Given the description of an element on the screen output the (x, y) to click on. 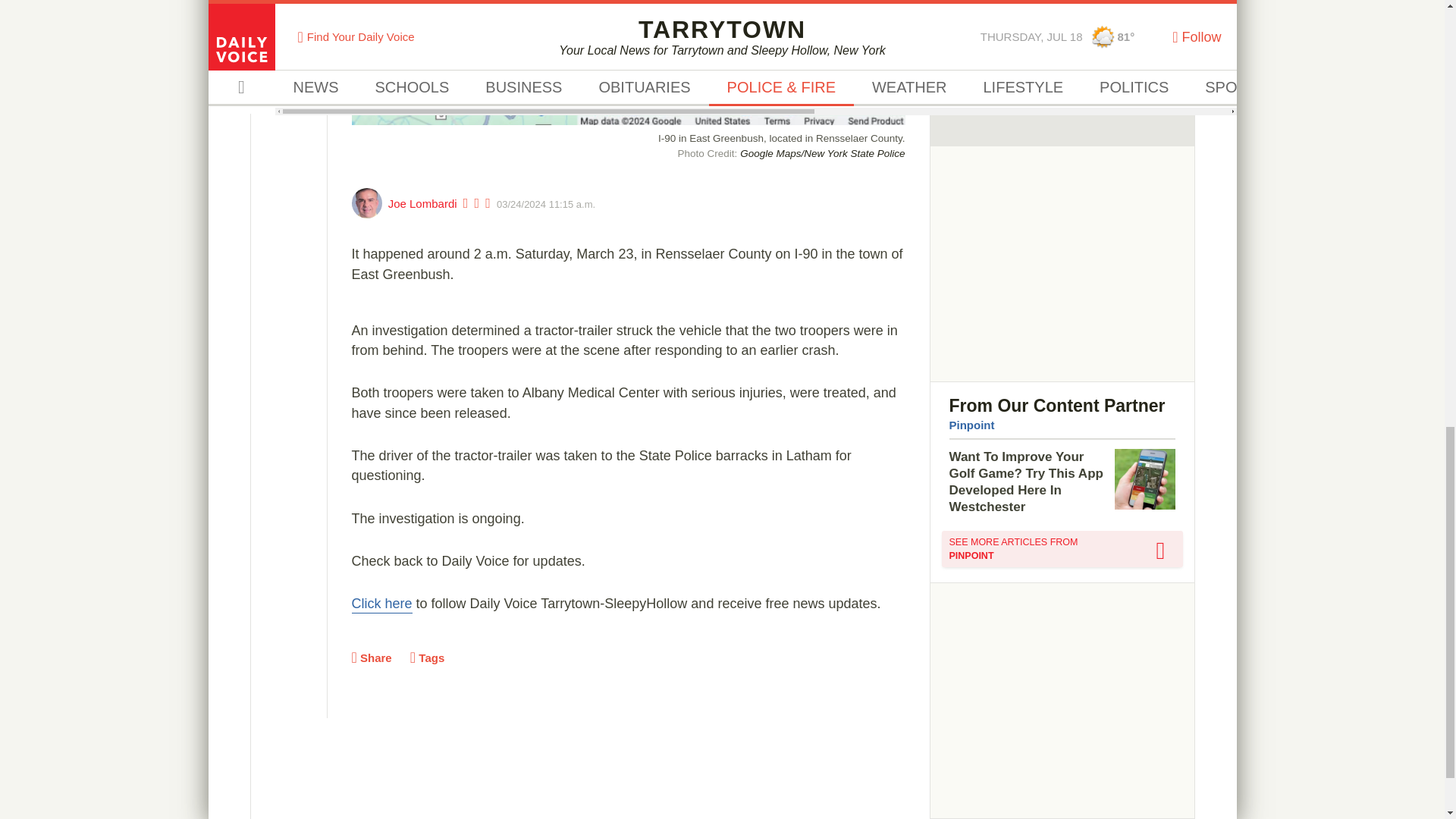
More from Pinpoint (1062, 549)
